Given the description of an element on the screen output the (x, y) to click on. 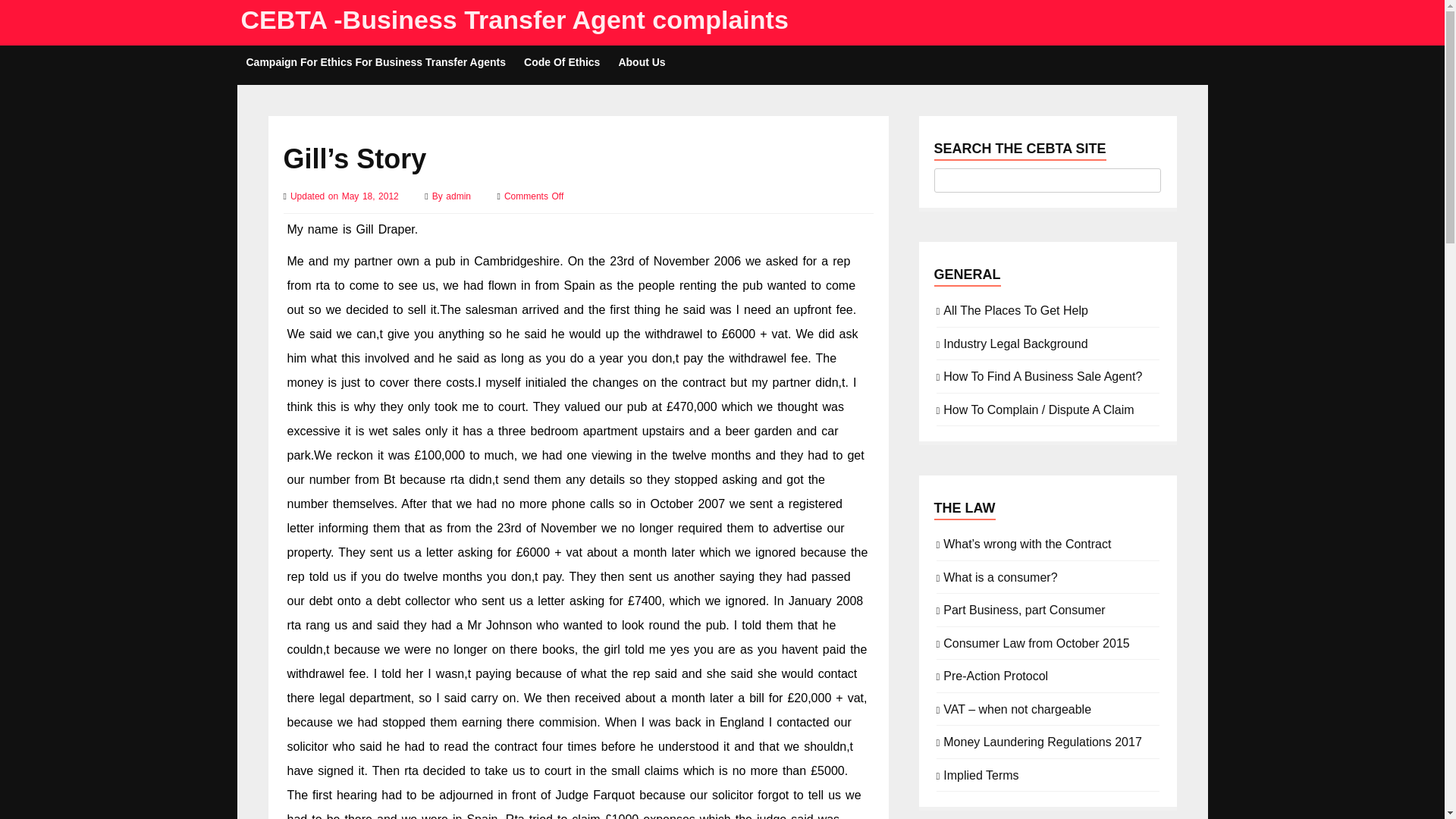
CEBTA -Business Transfer Agent complaints (515, 19)
Implied Terms (980, 773)
What is a consumer? (1000, 575)
Part Business, part Consumer (1024, 608)
Pre-Action Protocol (995, 674)
About Us (641, 62)
Code Of Ethics (561, 62)
Consumer Law from October 2015 (1036, 641)
Money Laundering Regulations 2017 (1042, 740)
Industry Legal Background (1015, 342)
How To Find A Business Sale Agent? (1042, 375)
All The Places To Get Help (1015, 309)
Campaign For Ethics For Business Transfer Agents (375, 62)
admin (459, 195)
